Given the description of an element on the screen output the (x, y) to click on. 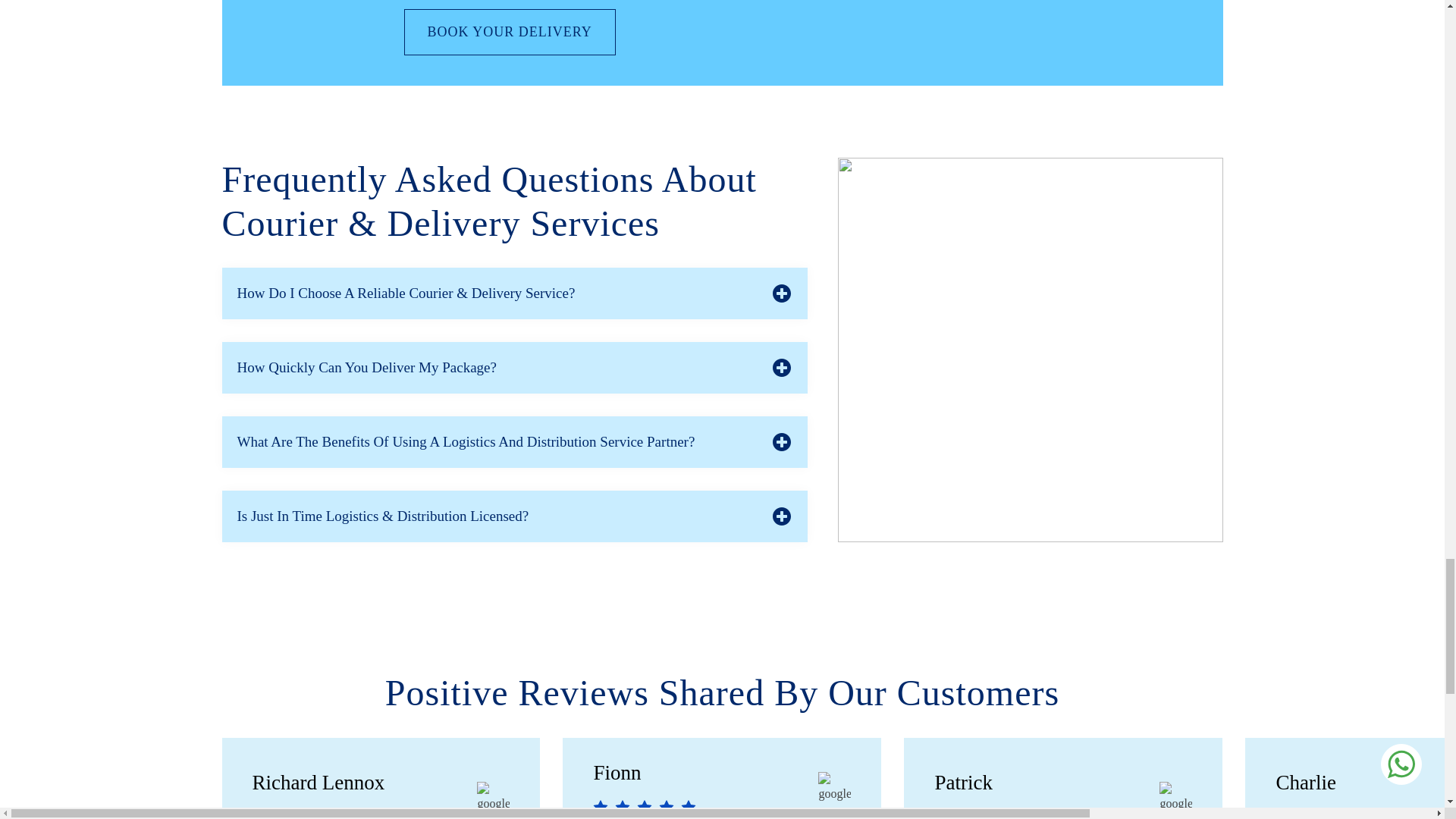
BOOK YOUR DELIVERY (508, 32)
How Quickly Can You Deliver My Package? (513, 367)
